Given the description of an element on the screen output the (x, y) to click on. 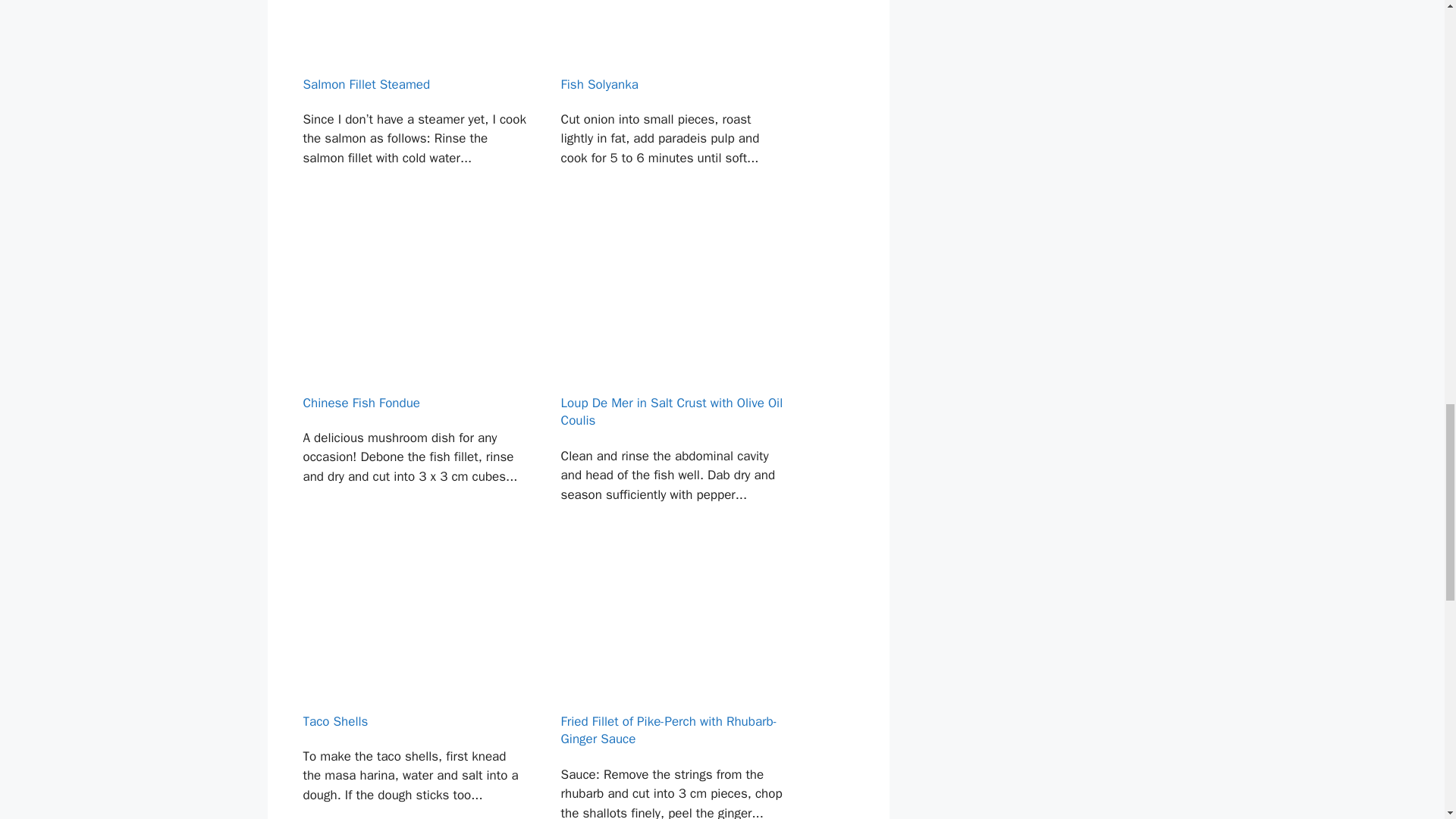
Salmon Fillet Steamed (414, 110)
Fish Solyanka (673, 110)
